Given the description of an element on the screen output the (x, y) to click on. 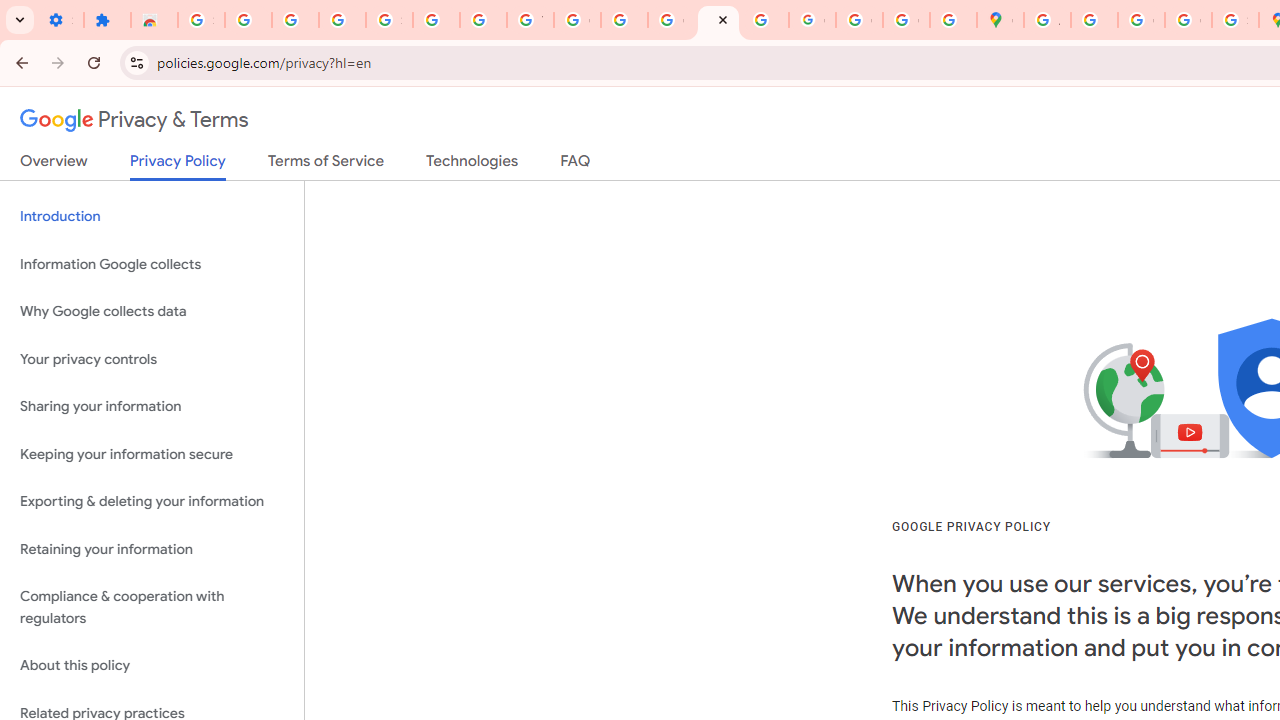
FAQ (575, 165)
Privacy & Terms (134, 120)
Search tabs (20, 20)
About this policy (152, 666)
View site information (136, 62)
Reload (93, 62)
Settings - On startup (60, 20)
Learn how to find your photos - Google Photos Help (294, 20)
Reviews: Helix Fruit Jump Arcade Game (153, 20)
Keeping your information secure (152, 453)
Overview (54, 165)
